Given the description of an element on the screen output the (x, y) to click on. 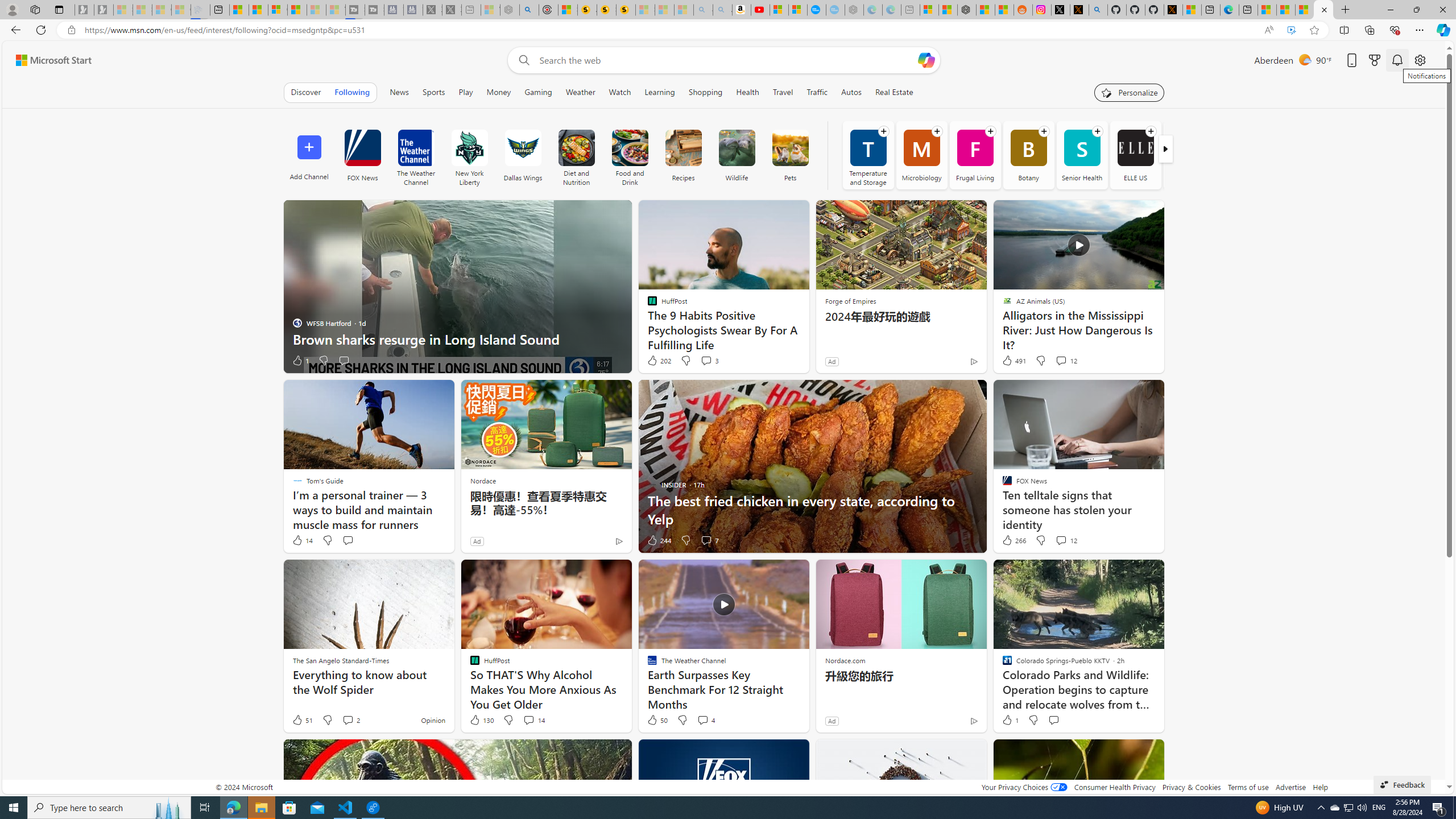
The Weather Channel (415, 147)
Nordace - Duffels (966, 9)
Help (1320, 786)
